Given the description of an element on the screen output the (x, y) to click on. 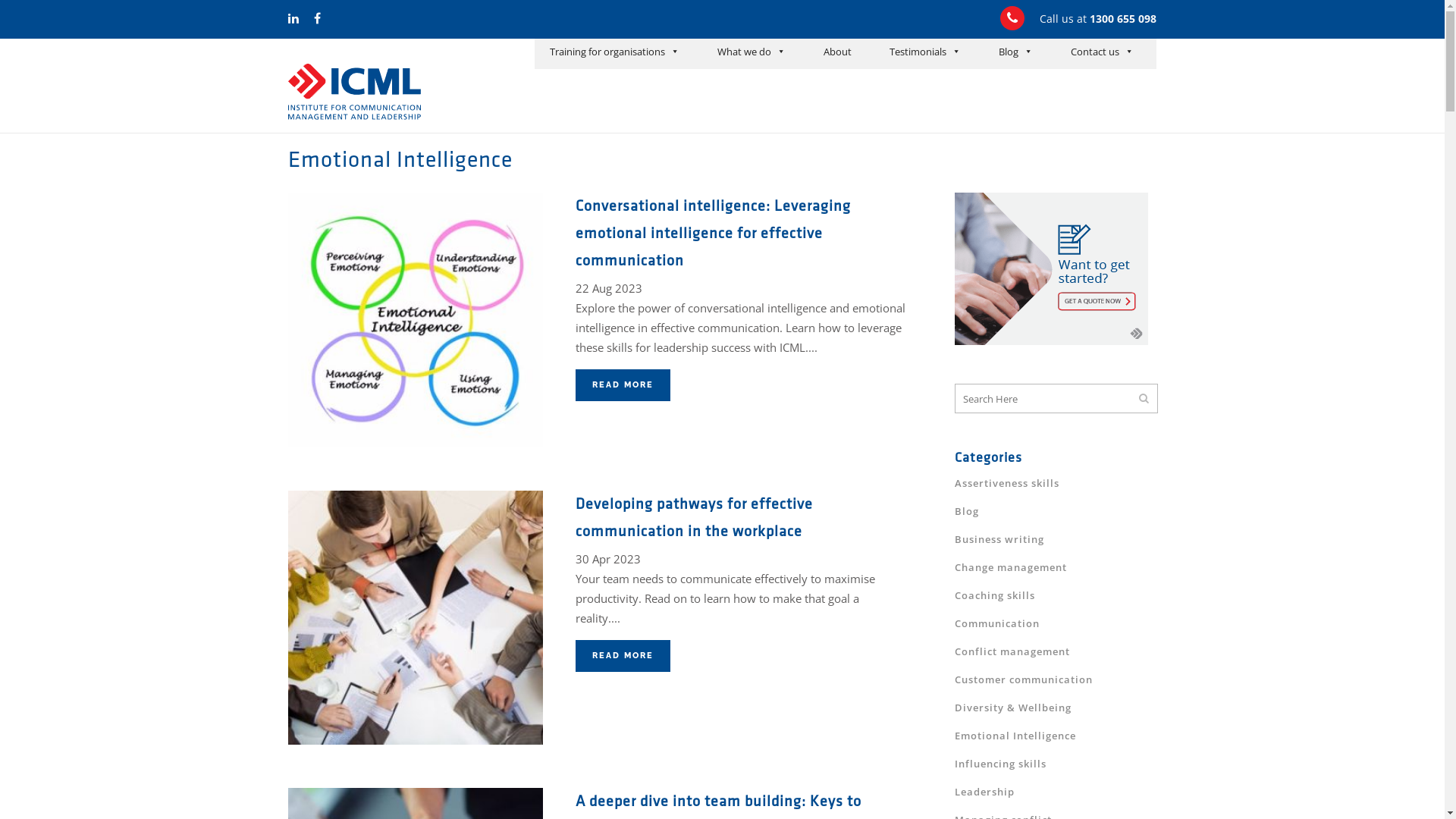
READ MORE Element type: text (622, 655)
1300 655 098 Element type: text (1122, 18)
Conflict management Element type: text (1012, 651)
Diversity & Wellbeing Element type: text (1012, 707)
Testimonials Element type: text (924, 53)
Blog Element type: text (1015, 53)
READ MORE Element type: text (622, 385)
Business writing Element type: text (999, 539)
Assertiveness skills Element type: text (1006, 482)
Blog Element type: text (966, 510)
Influencing skills Element type: text (1000, 763)
Communication Element type: text (996, 623)
Change management Element type: text (1010, 567)
Coaching skills Element type: text (994, 595)
Customer communication Element type: text (1023, 679)
Contact us Element type: text (1102, 53)
Emotional Intelligence Element type: text (1015, 735)
Leadership Element type: text (984, 791)
What we do Element type: text (751, 53)
Training for organisations Element type: text (614, 53)
About Element type: text (837, 53)
